Given the description of an element on the screen output the (x, y) to click on. 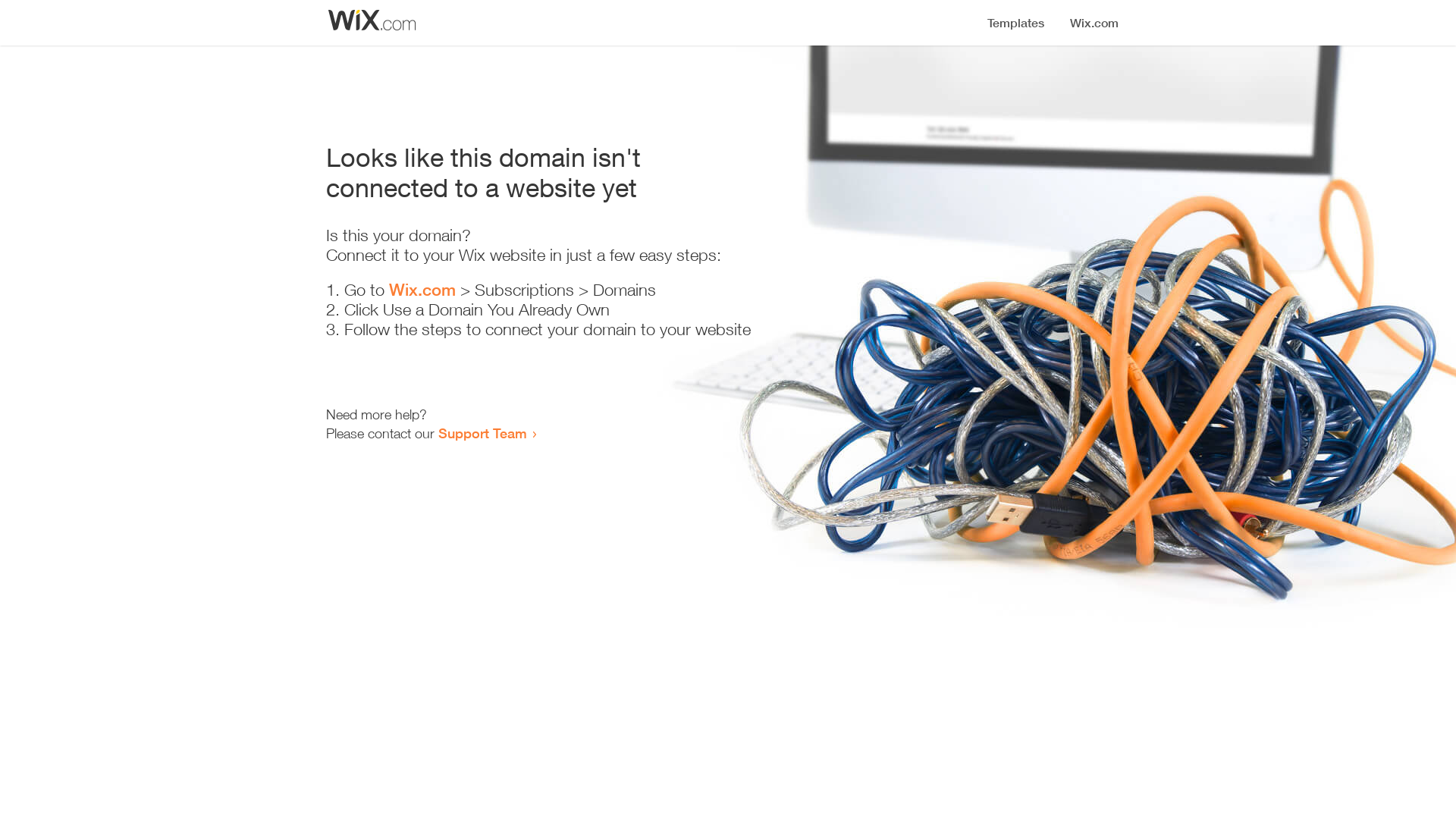
Wix.com Element type: text (422, 289)
Support Team Element type: text (482, 432)
